Given the description of an element on the screen output the (x, y) to click on. 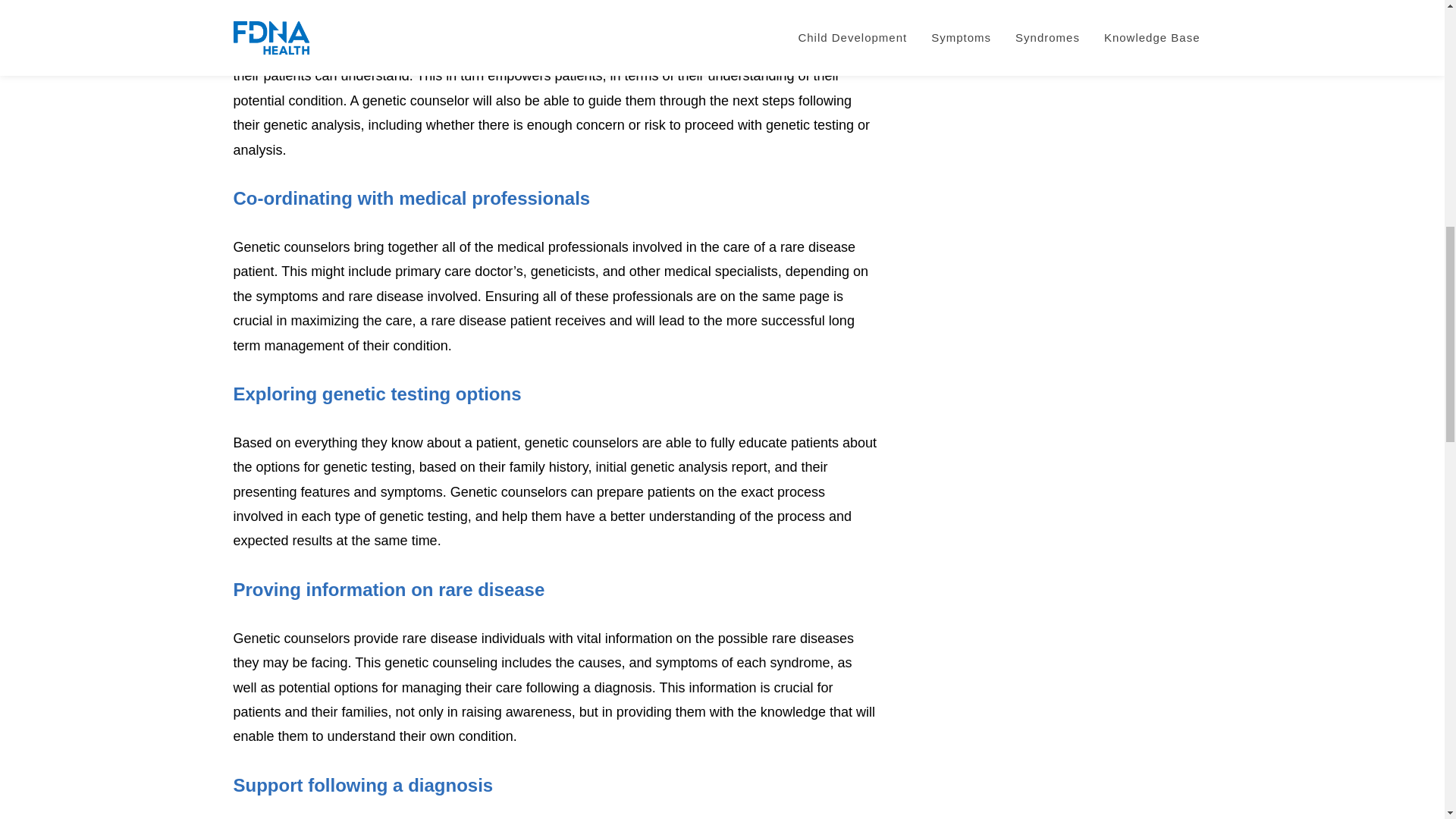
genetic analysis (425, 27)
